Given the description of an element on the screen output the (x, y) to click on. 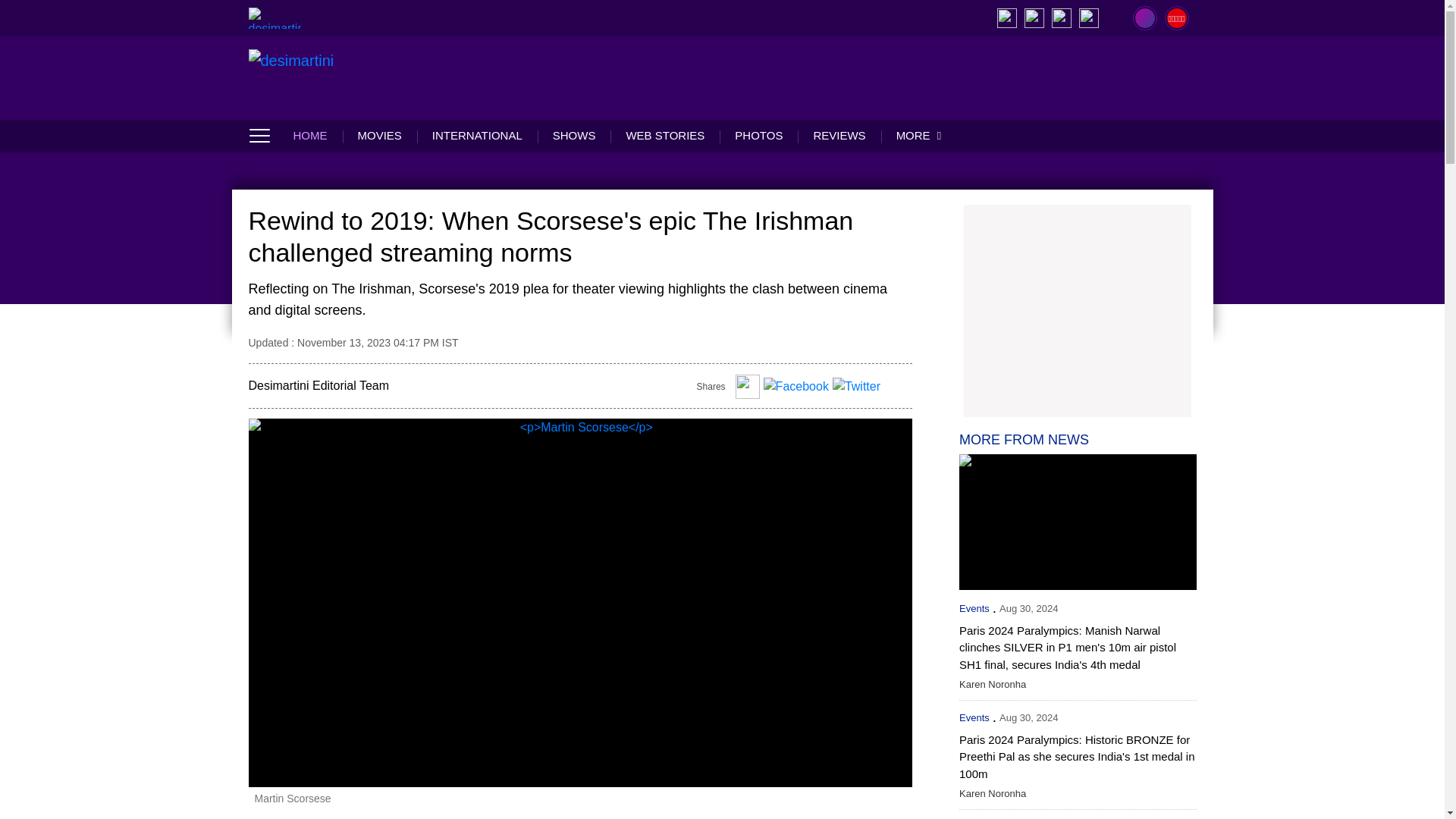
Facebook (795, 389)
desimartini (319, 77)
INTERNATIONAL (476, 135)
REVIEWS (838, 135)
MOVIES (379, 135)
SHOWS (574, 135)
PHOTOS (758, 135)
HOME (317, 135)
desimartini (274, 17)
